Given the description of an element on the screen output the (x, y) to click on. 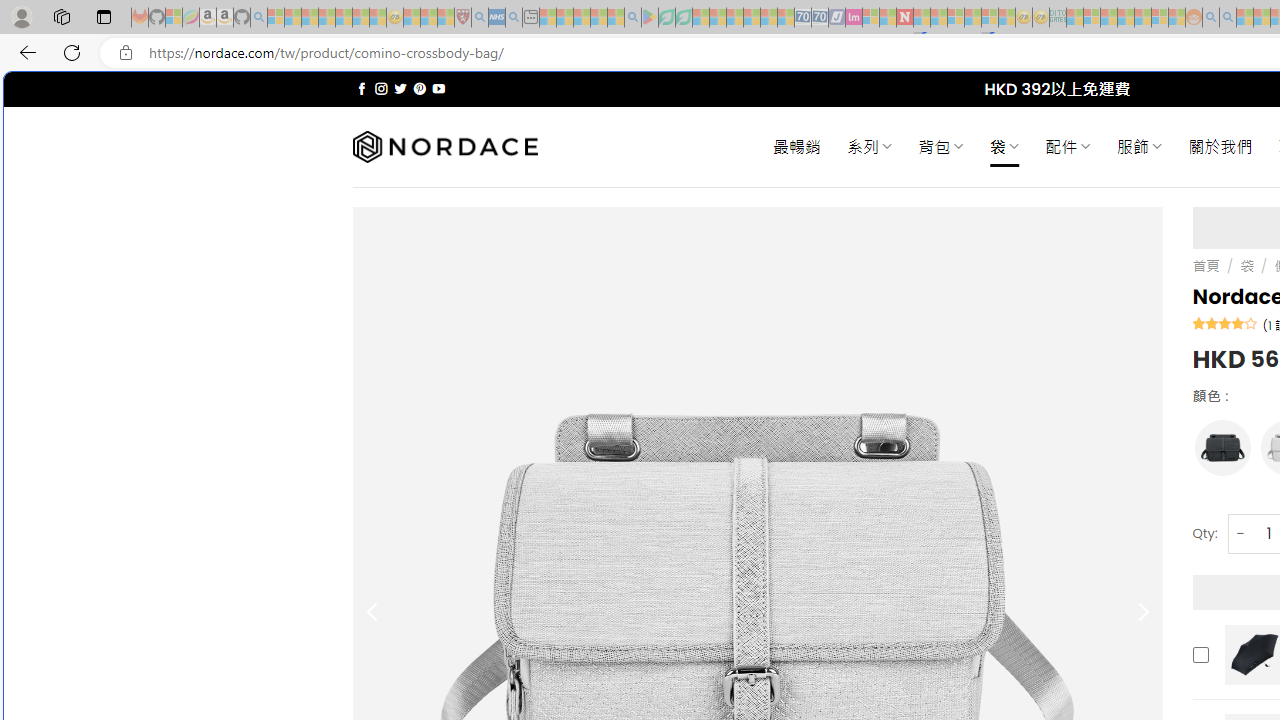
Add this product to cart (1200, 654)
